Given the description of an element on the screen output the (x, y) to click on. 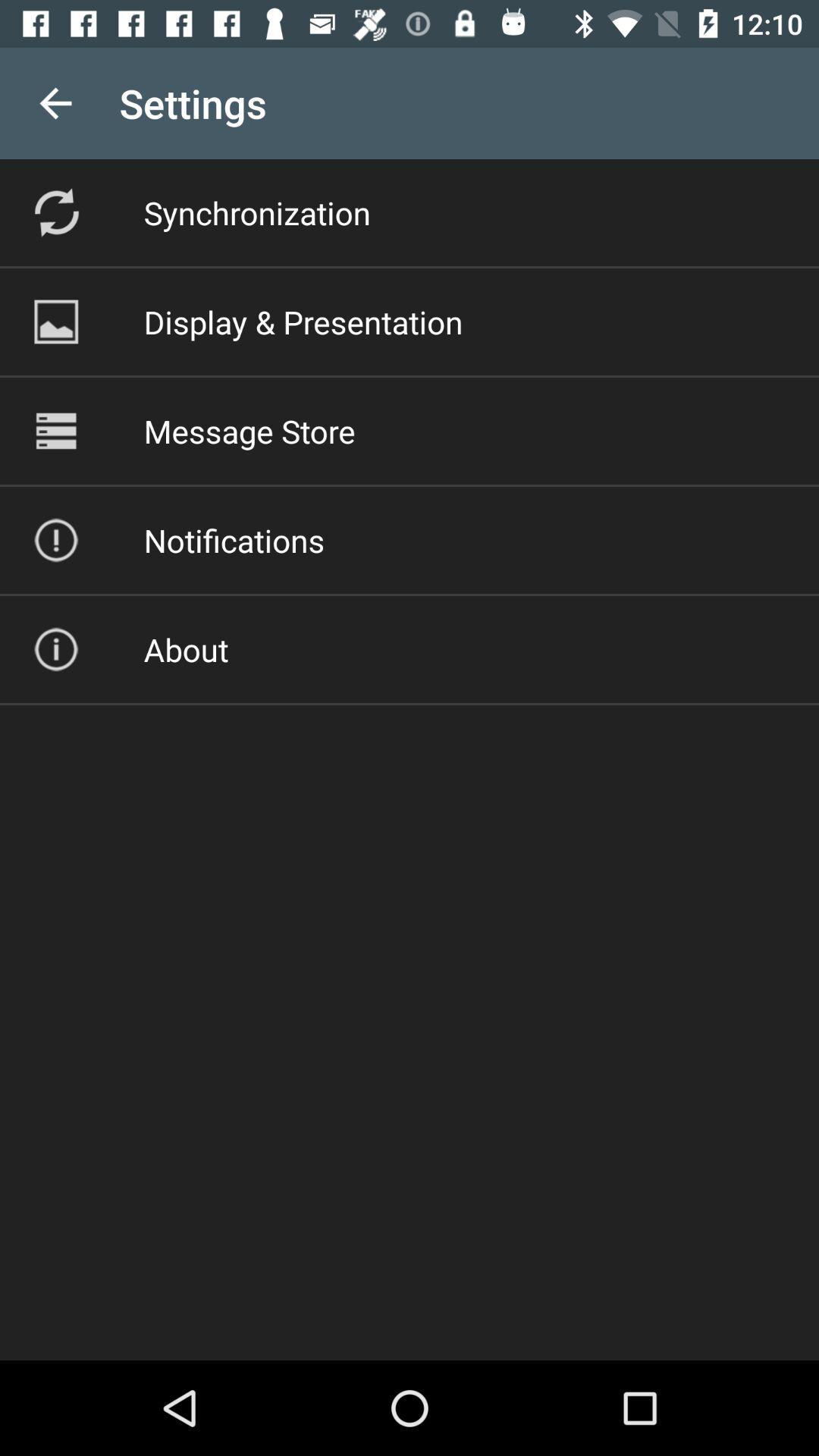
turn off the synchronization item (256, 212)
